Given the description of an element on the screen output the (x, y) to click on. 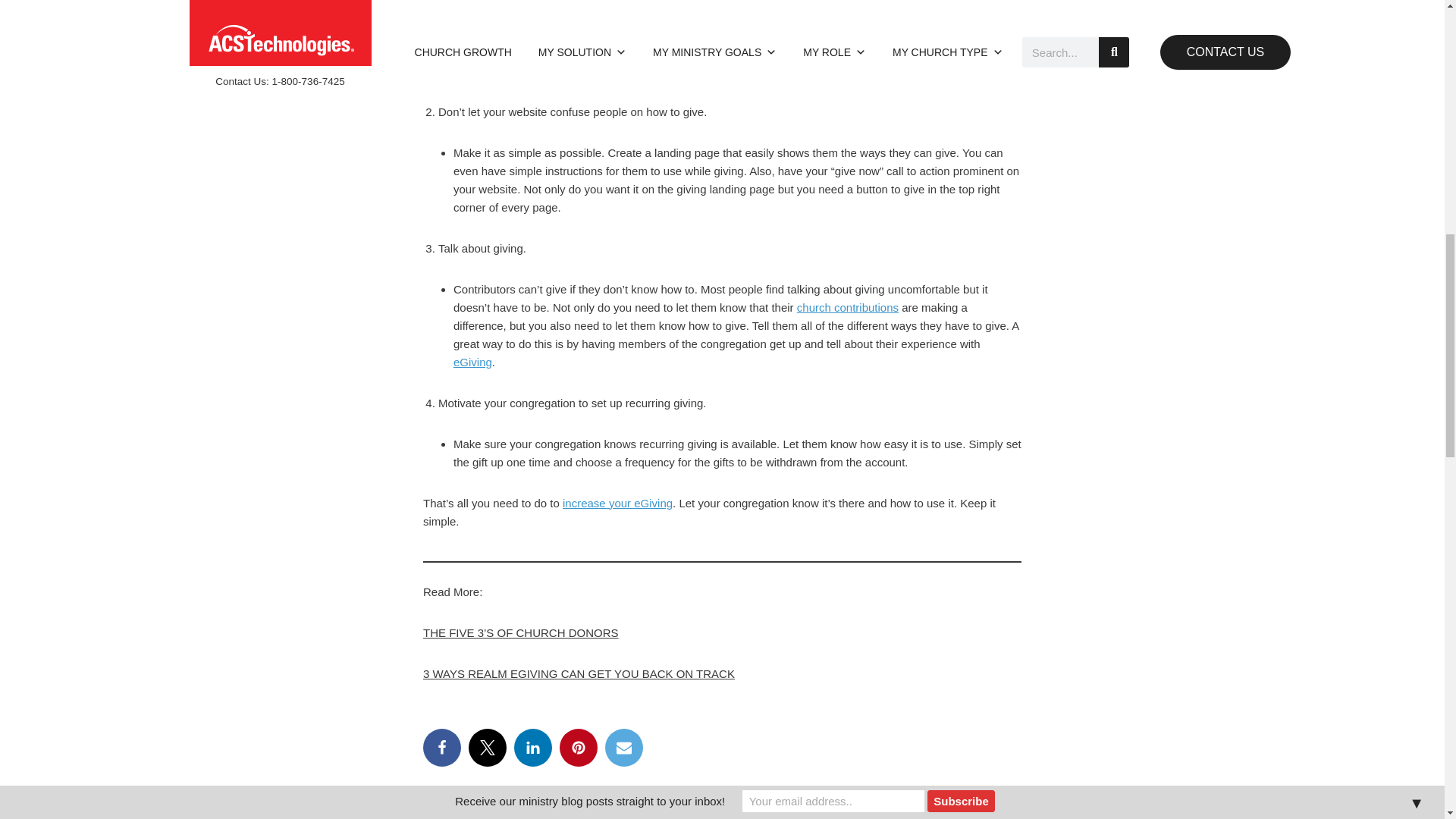
Facebook (442, 746)
LinkedIn (532, 746)
Pinterest (577, 746)
Email (624, 746)
Twitter (487, 746)
